Given the description of an element on the screen output the (x, y) to click on. 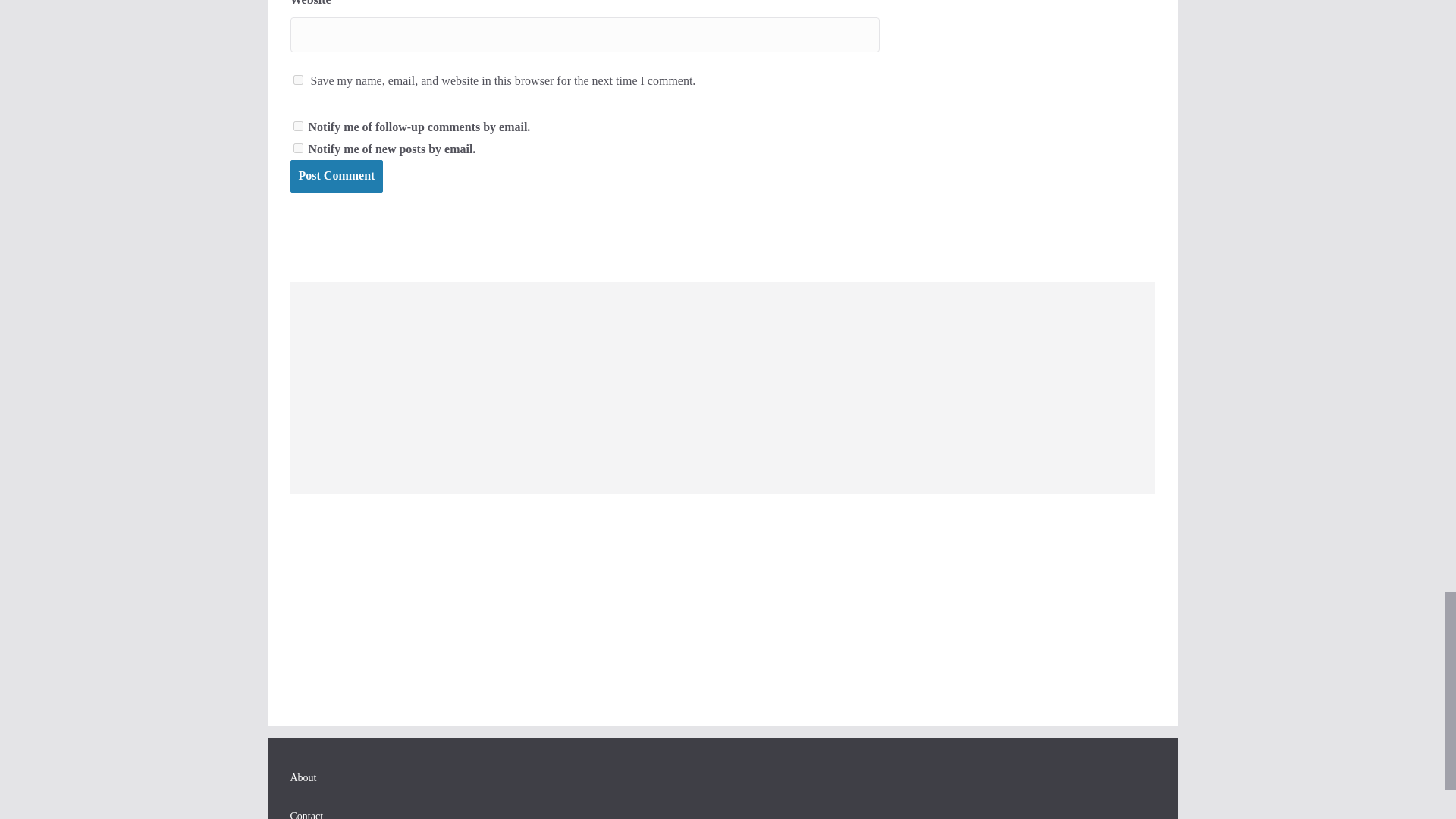
Post Comment (335, 175)
subscribe (297, 126)
yes (297, 80)
subscribe (297, 147)
